Given the description of an element on the screen output the (x, y) to click on. 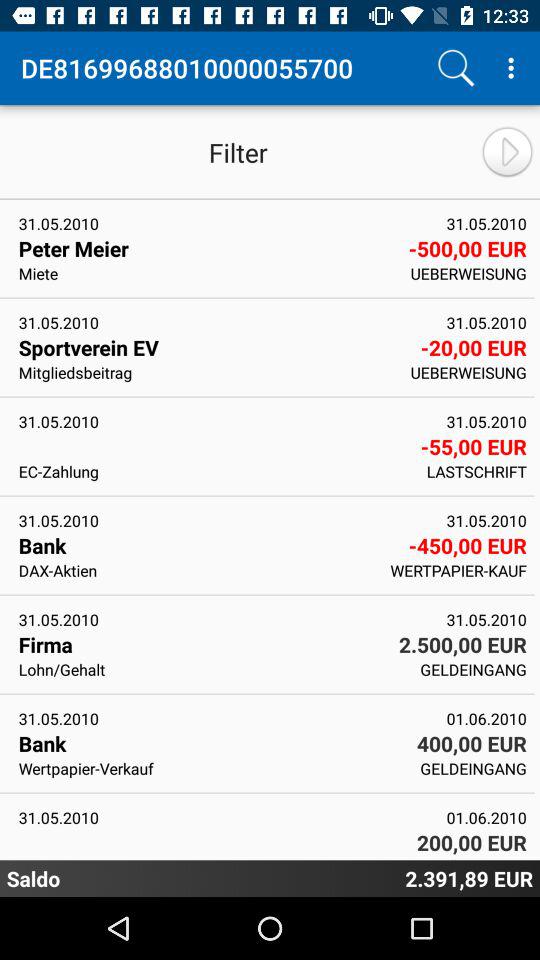
choose the app below the peter meier (207, 273)
